Given the description of an element on the screen output the (x, y) to click on. 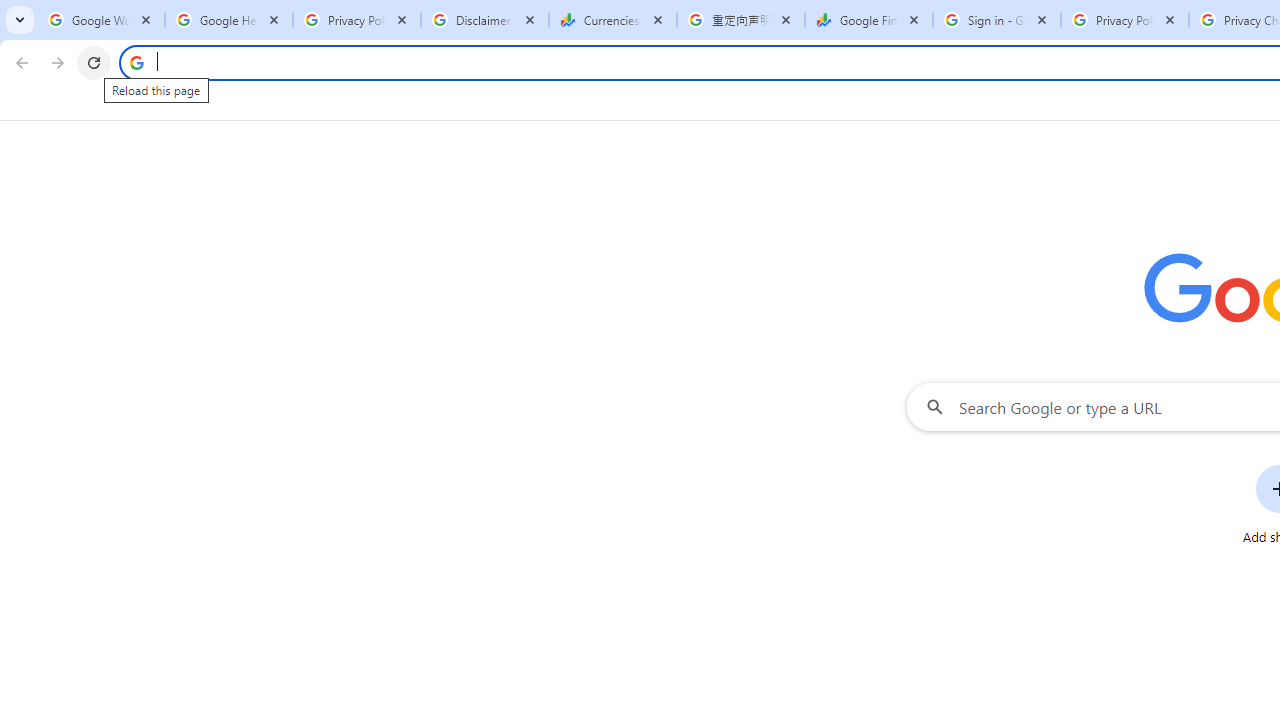
Google Workspace Admin Community (101, 20)
Search icon (136, 62)
Sign in - Google Accounts (997, 20)
Currencies - Google Finance (613, 20)
